Given the description of an element on the screen output the (x, y) to click on. 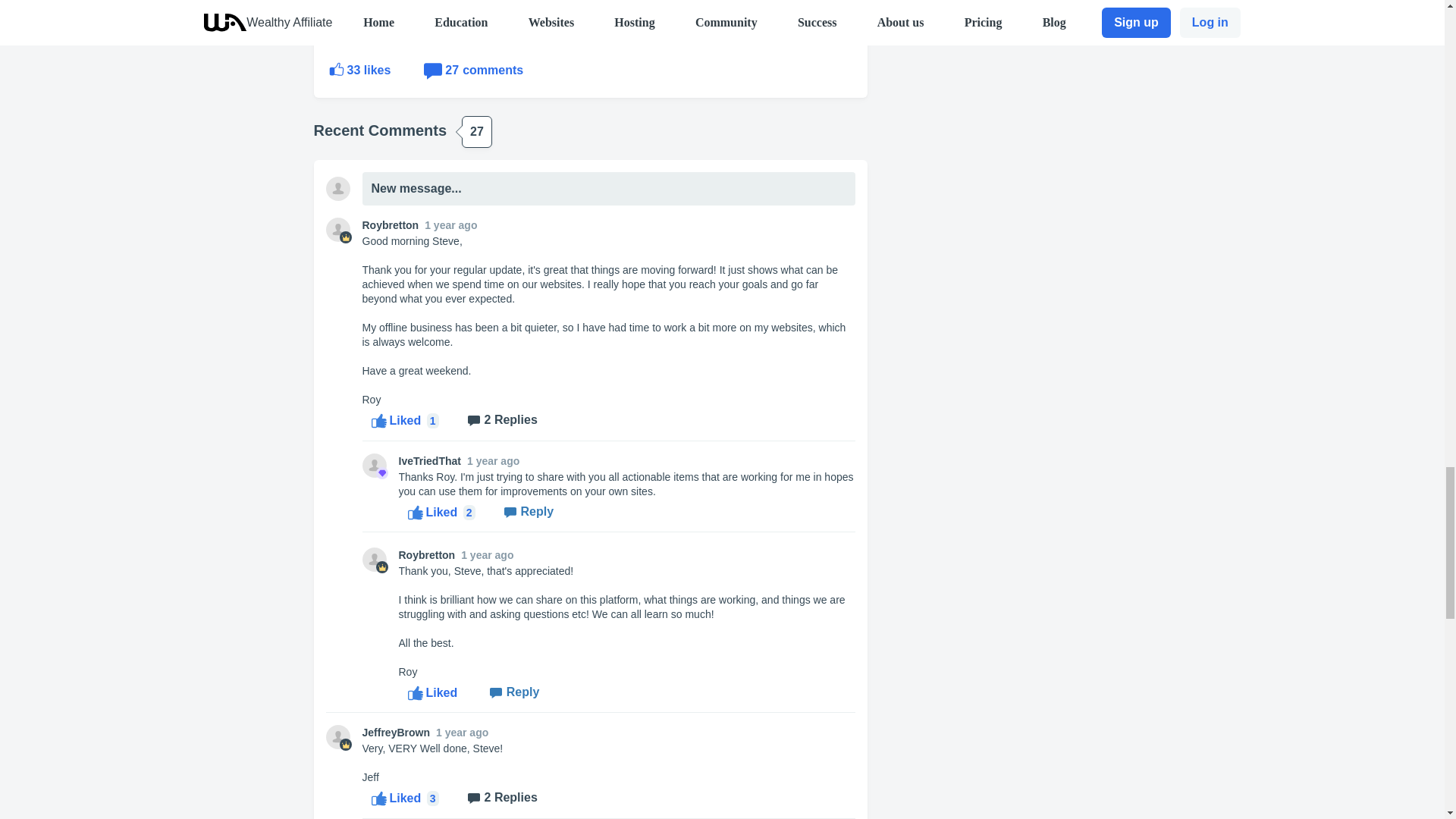
Sat, 02 Sep 2023 11:01:33 GMT (493, 460)
Fri, 01 Sep 2023 21:33:10 GMT (461, 732)
JeffreyBrown (395, 732)
Reply (474, 70)
Reply (361, 70)
New message... (523, 693)
Sat, 02 Sep 2023 14:14:25 GMT (537, 512)
